Given the description of an element on the screen output the (x, y) to click on. 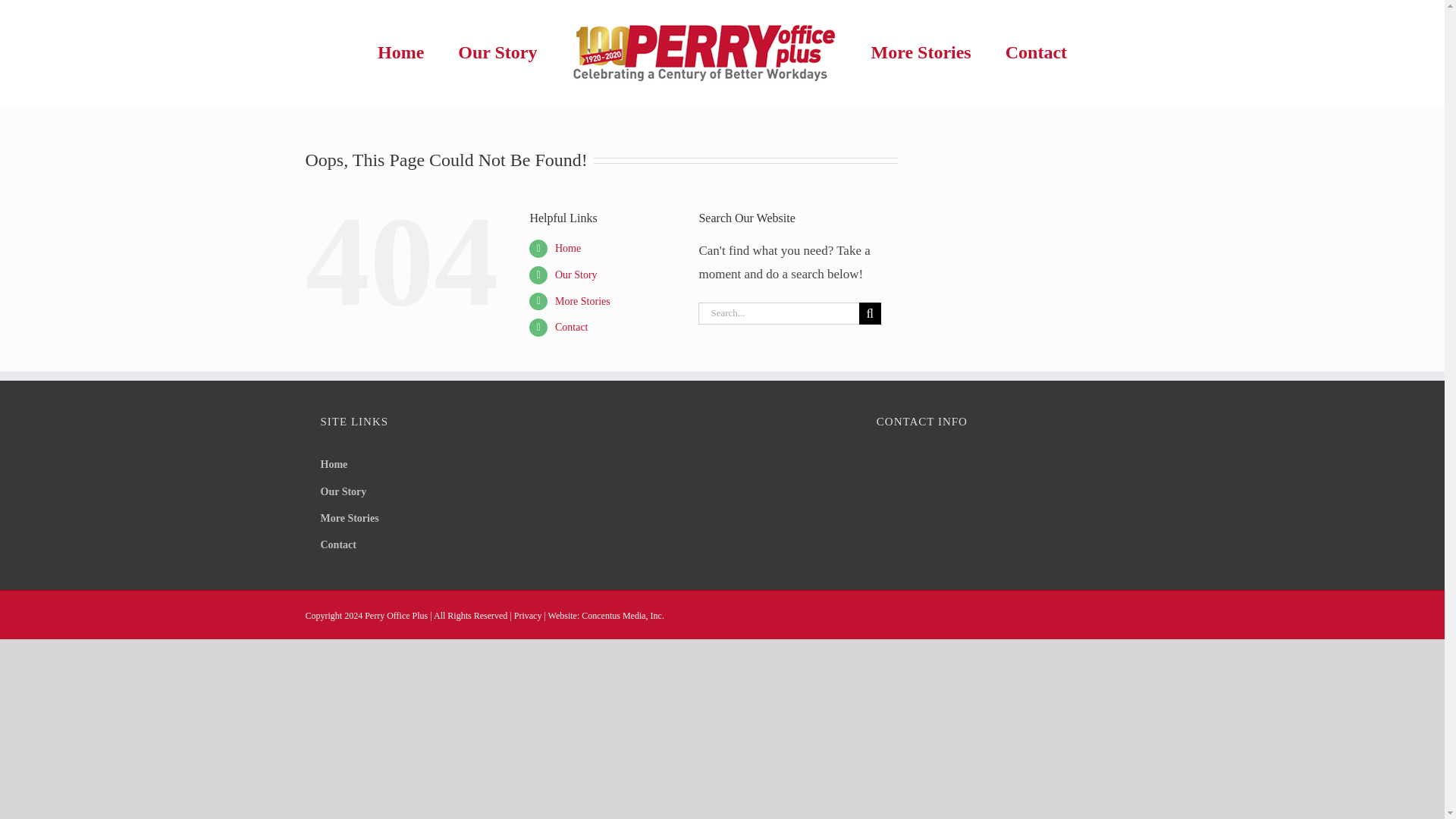
Our Story (575, 274)
Home (400, 51)
More Stories (582, 301)
Contact (435, 545)
Contact (571, 326)
Our Story (497, 51)
Our Story (435, 492)
Home (435, 465)
More Stories (920, 51)
Home (567, 247)
